Given the description of an element on the screen output the (x, y) to click on. 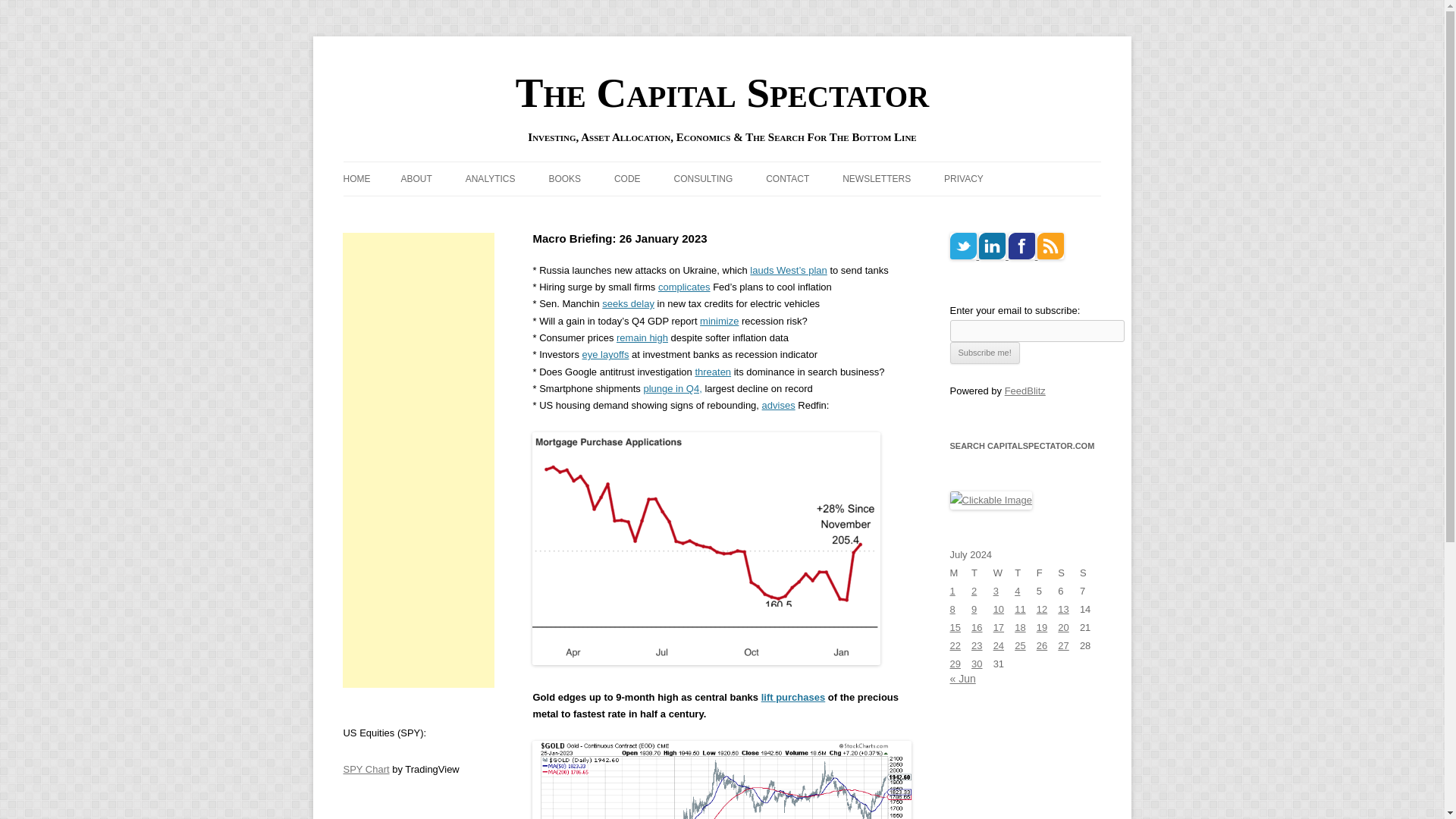
plunge in Q4, (672, 388)
seeks delay (627, 303)
Facebook (1022, 245)
threaten (712, 370)
The Capital Spectator (722, 92)
CONSULTING (702, 178)
Sunday (1091, 573)
Skip to content (757, 166)
Subscribe me! (984, 353)
RSS (1050, 245)
Subscribe me! (984, 353)
COMBINATION FORECASTS (541, 210)
PRIVACY (963, 178)
Thursday (1025, 573)
CONTACT (787, 178)
